Given the description of an element on the screen output the (x, y) to click on. 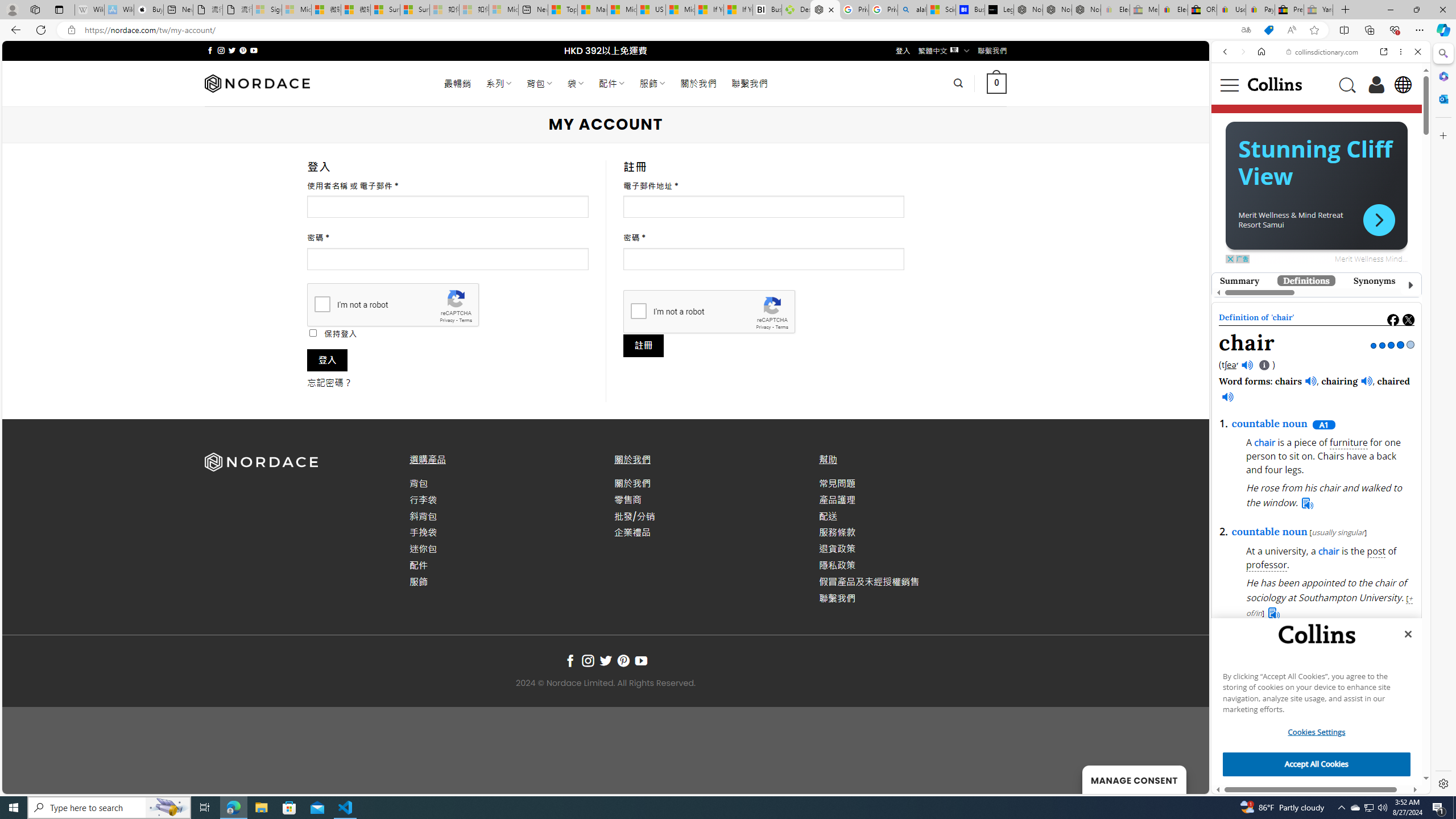
professorship (1291, 393)
Follow on Twitter (605, 660)
Go to top (1185, 777)
User Privacy Notice | eBay (1230, 9)
Follow on Facebook (570, 660)
US Heat Deaths Soared To Record High Last Year (651, 9)
Open (1312, 540)
